Given the description of an element on the screen output the (x, y) to click on. 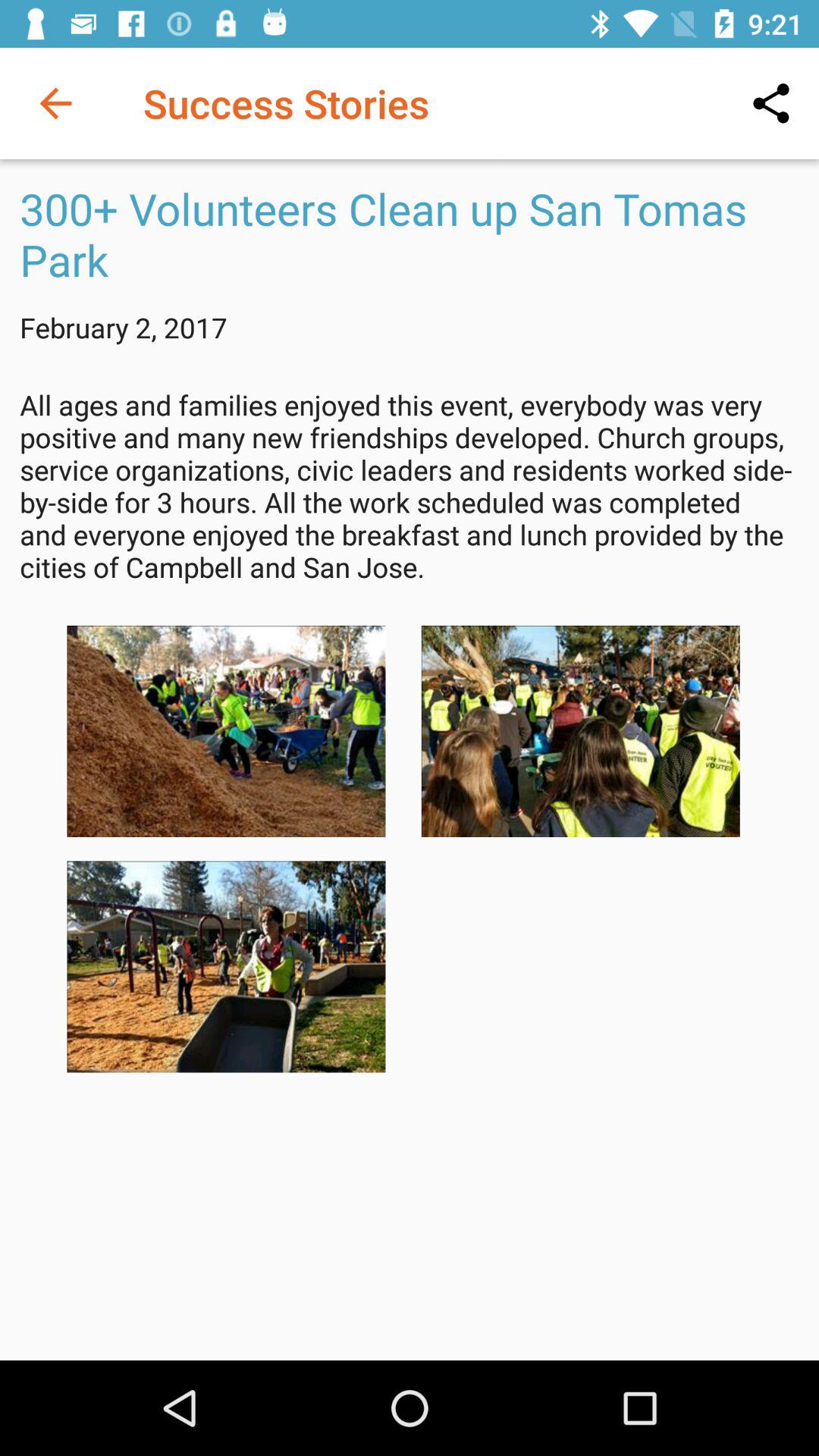
open photo page (226, 966)
